Given the description of an element on the screen output the (x, y) to click on. 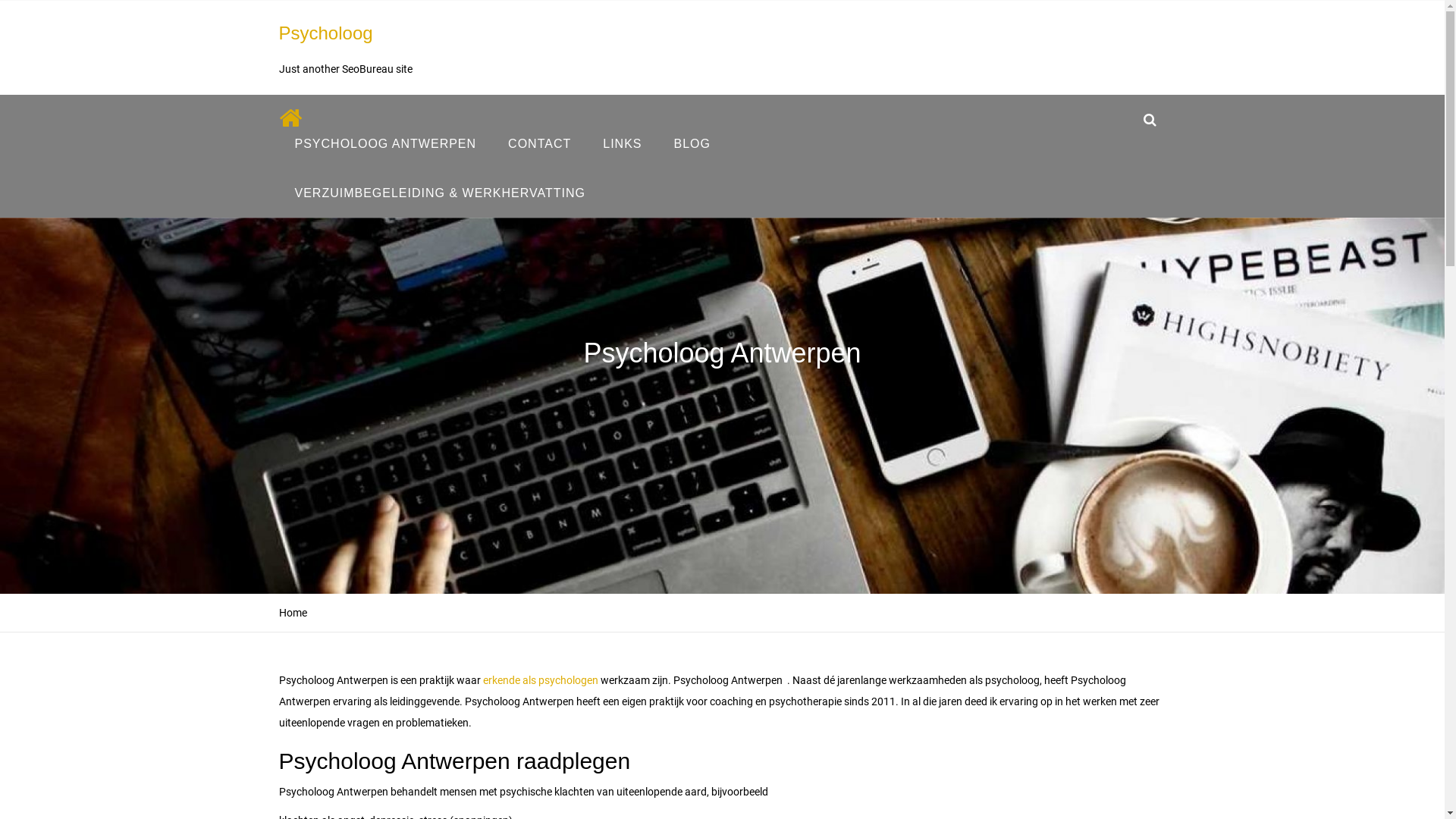
CONTACT Element type: text (539, 143)
VERZUIMBEGELEIDING & WERKHERVATTING Element type: text (440, 192)
erkende als psychologen Element type: text (539, 680)
Psycholoog Element type: text (326, 32)
LINKS Element type: text (622, 143)
search_icon Element type: hover (1148, 119)
PSYCHOLOOG ANTWERPEN Element type: text (385, 143)
BLOG Element type: text (691, 143)
